Given the description of an element on the screen output the (x, y) to click on. 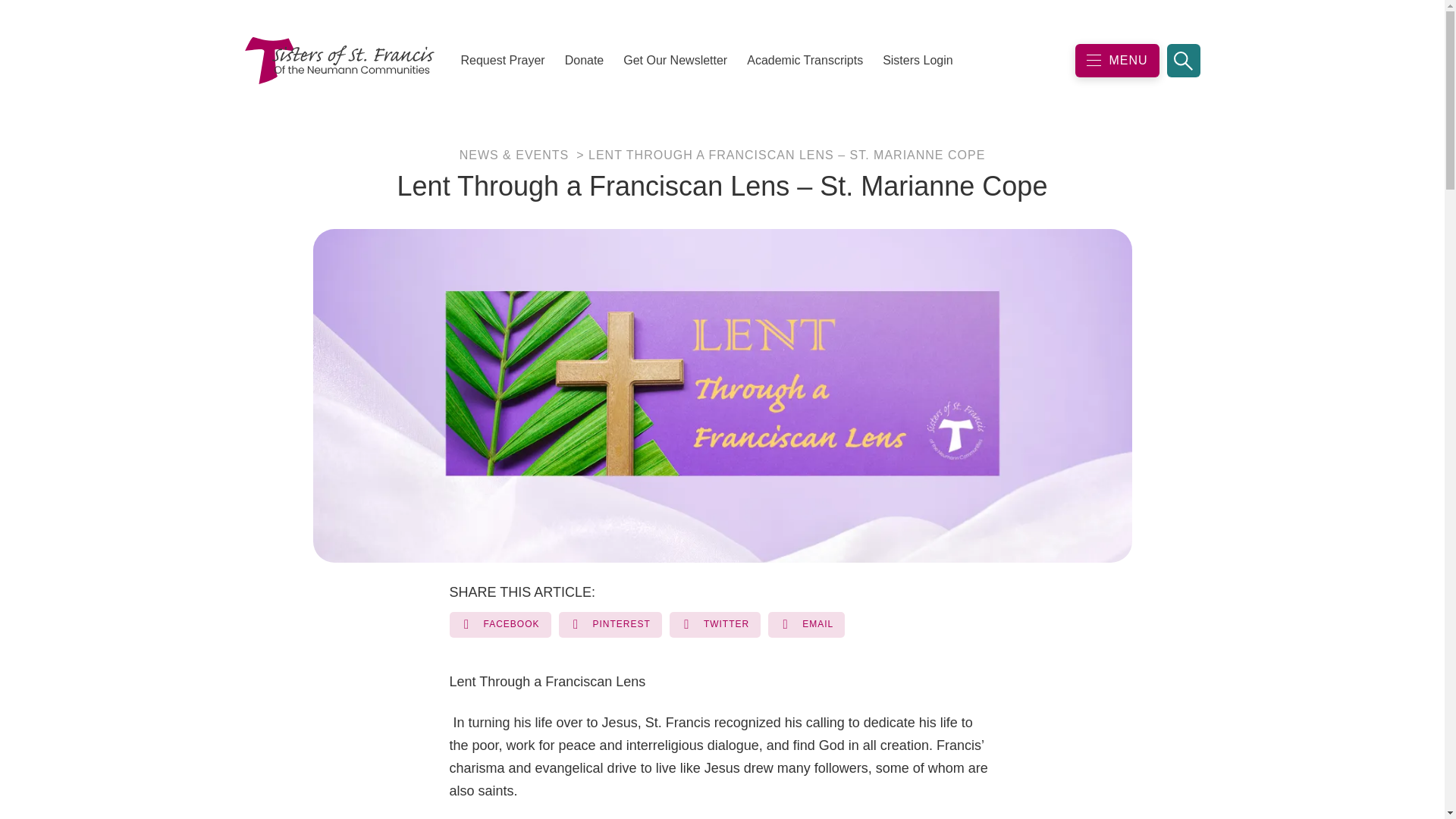
Sisters Login (917, 60)
Academic Transcripts (804, 60)
Donate (584, 60)
MENU (1116, 60)
Request Prayer (502, 60)
Get Our Newsletter (675, 60)
